Given the description of an element on the screen output the (x, y) to click on. 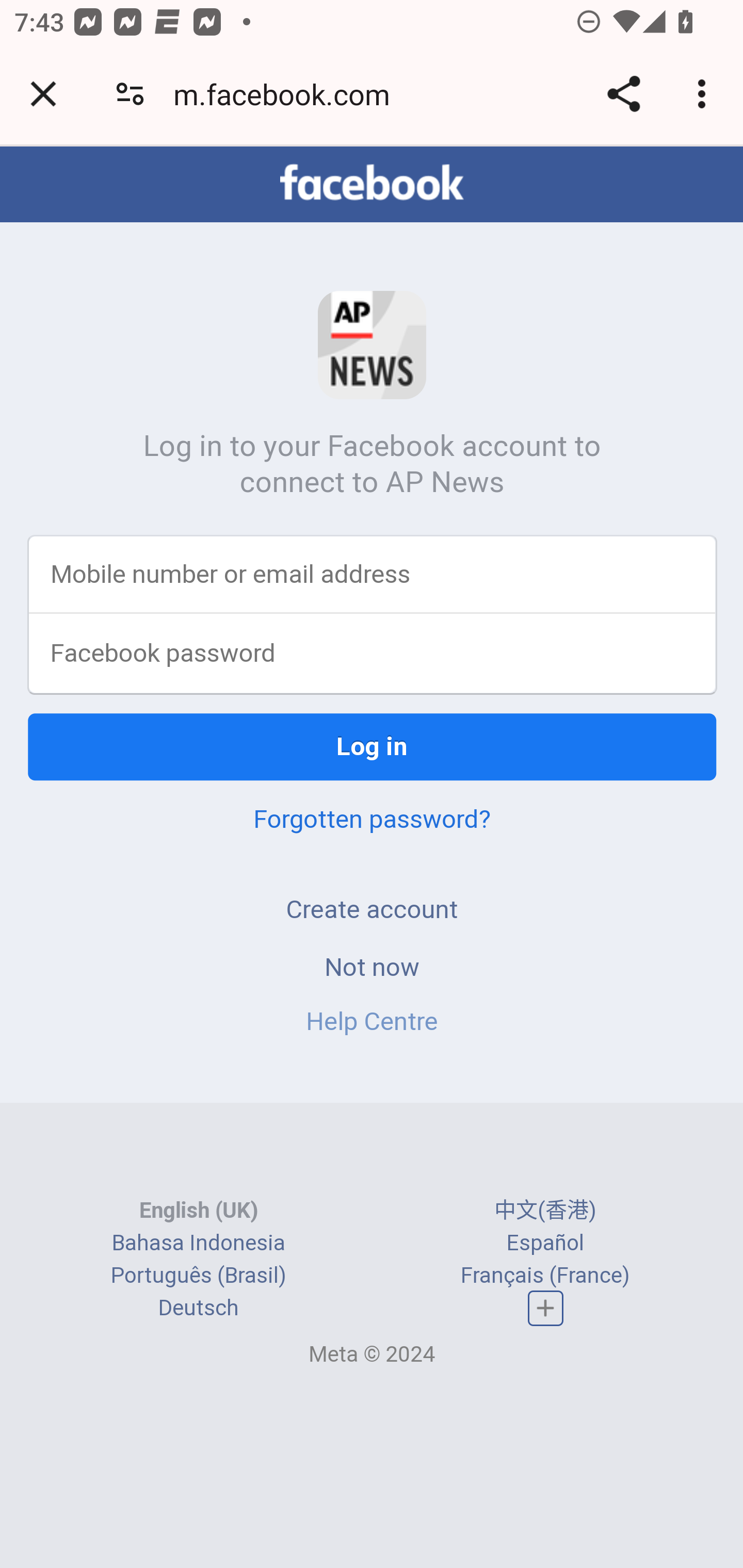
Close tab (43, 93)
Share (623, 93)
Customize and control Google Chrome (705, 93)
Connection is secure (129, 93)
m.facebook.com (288, 93)
facebook (371, 183)
Log in (372, 747)
Forgotten password? (371, 819)
Create account (371, 910)
Not now (371, 968)
Help Centre (371, 1022)
中文(香港) (544, 1211)
Bahasa Indonesia (198, 1243)
Español (545, 1243)
Português (Brasil) (197, 1276)
Français (France) (544, 1276)
Complete list of languages (545, 1309)
Deutsch (197, 1309)
